Given the description of an element on the screen output the (x, y) to click on. 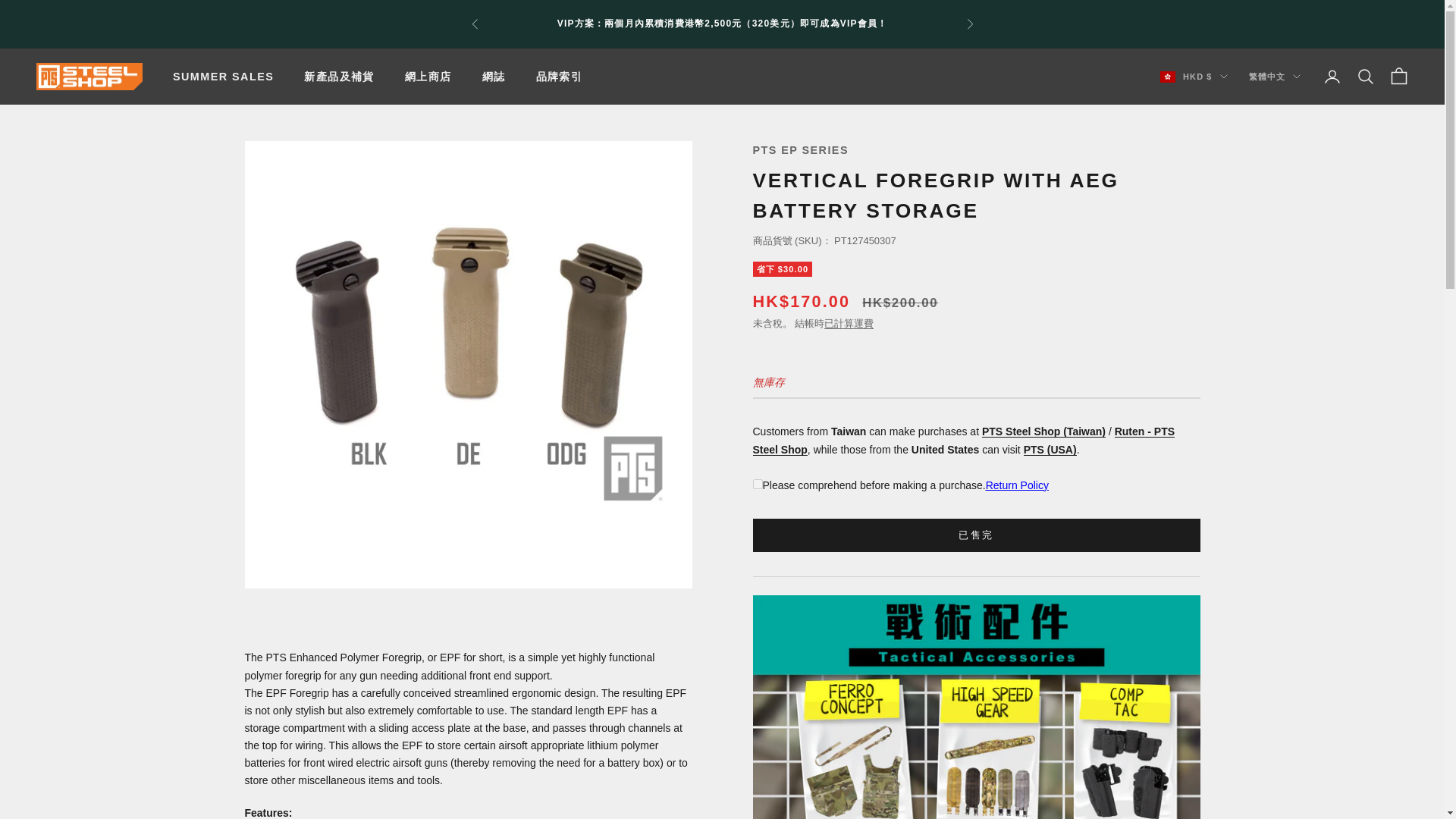
SUMMER SALES (223, 76)
PTS Steel Shop (89, 76)
on (756, 483)
